Given the description of an element on the screen output the (x, y) to click on. 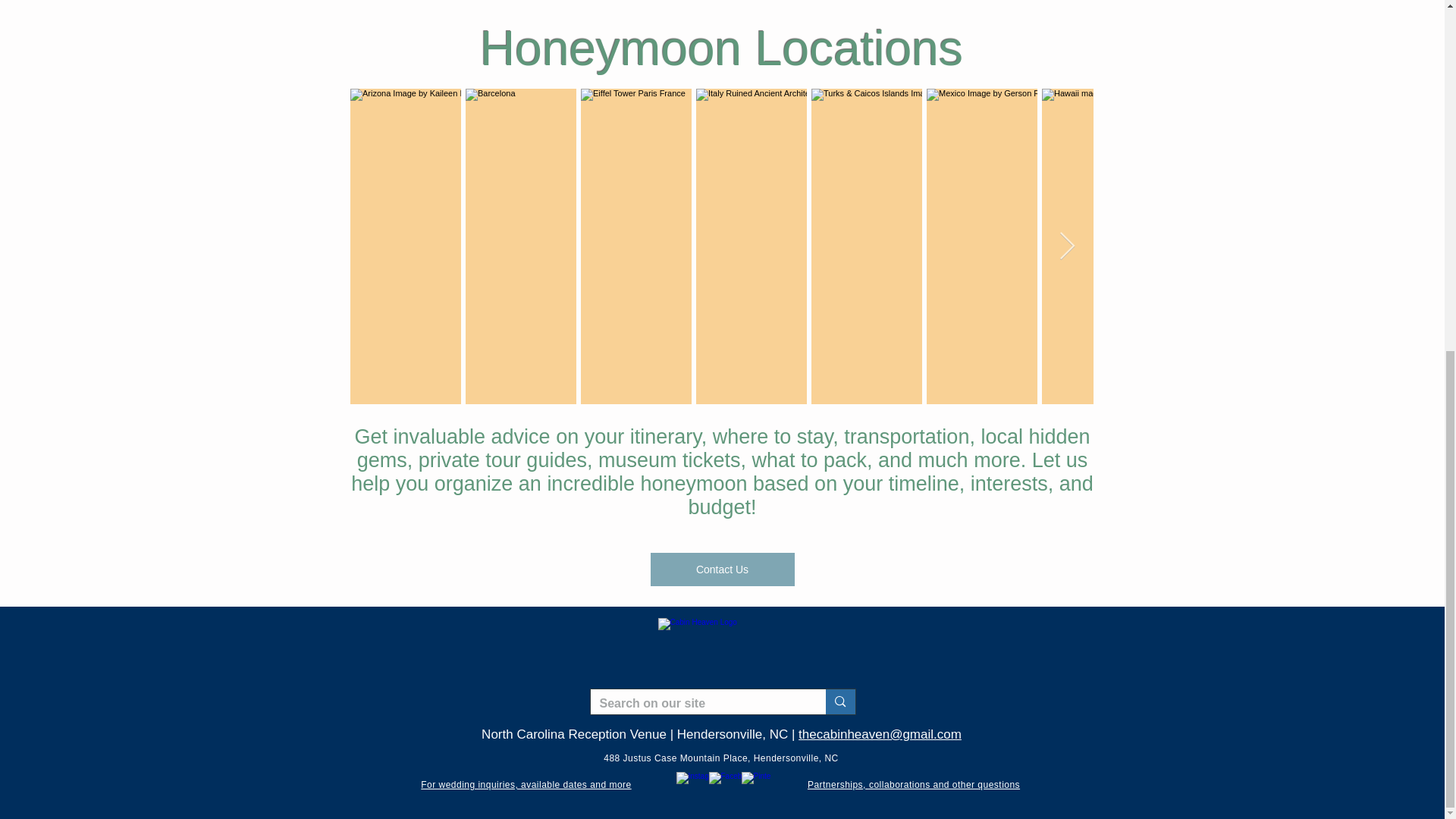
For wedding inquiries, available dates and more (525, 783)
Contact Us (722, 569)
Cabin Heaven Mountain Weddings Elopements (721, 649)
